Given the description of an element on the screen output the (x, y) to click on. 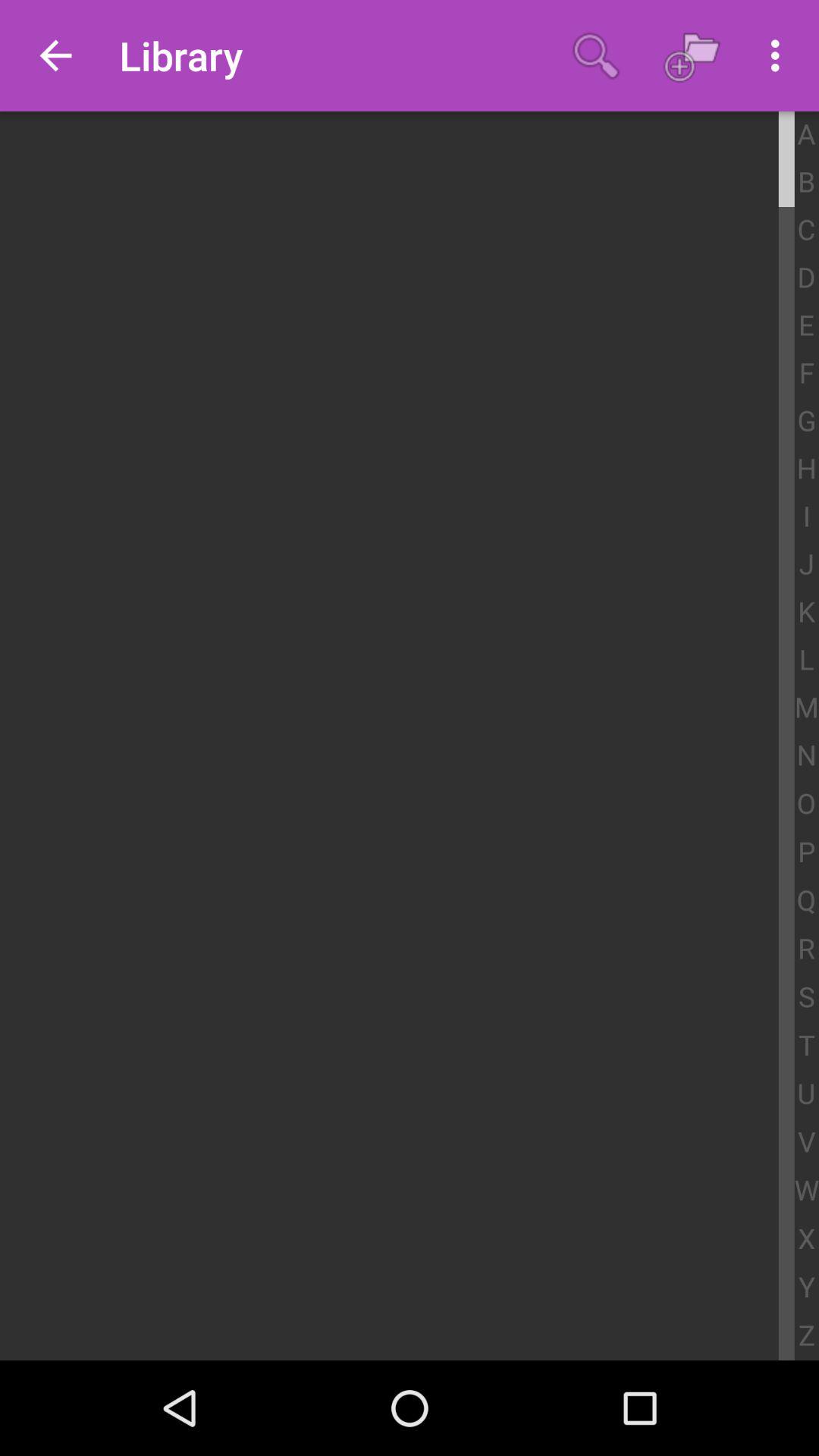
tap the app below s icon (806, 1046)
